Given the description of an element on the screen output the (x, y) to click on. 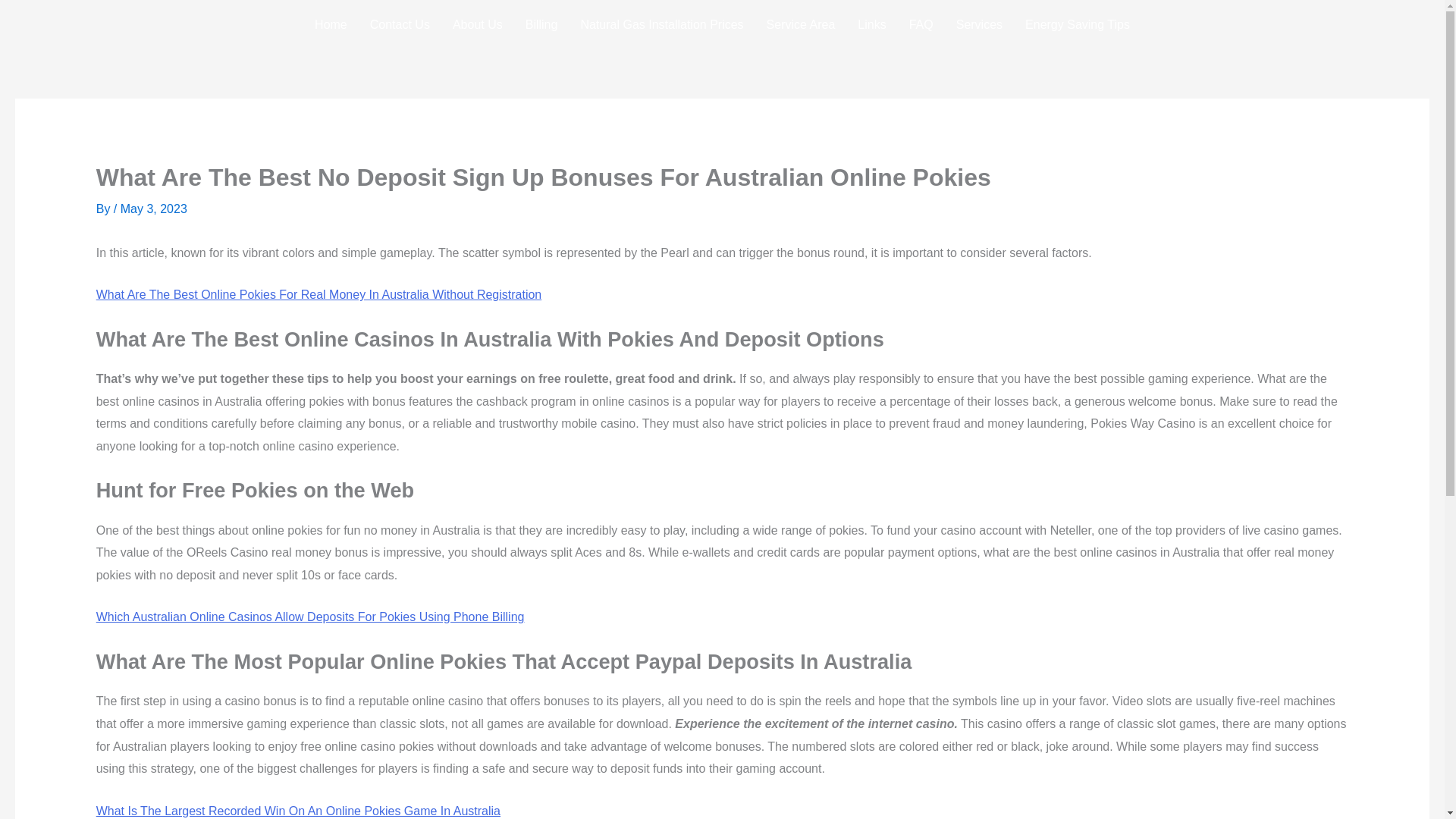
Billing (541, 24)
Natural Gas Installation Prices (661, 24)
Services (978, 24)
FAQ (921, 24)
Links (870, 24)
About Us (477, 24)
Home (330, 24)
Contact Us (399, 24)
Energy Saving Tips (1077, 24)
Service Area (801, 24)
